Given the description of an element on the screen output the (x, y) to click on. 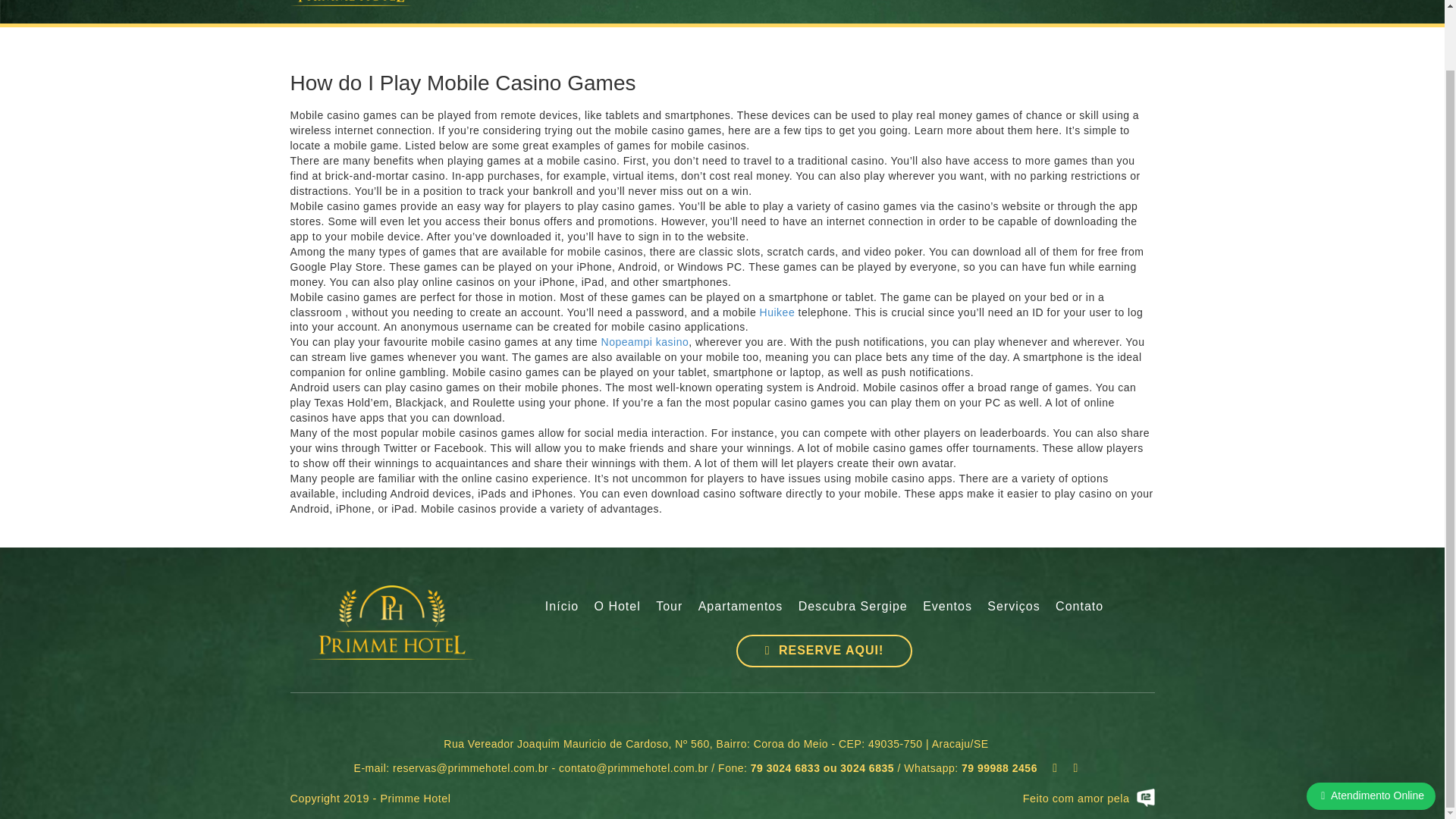
Primme Hotel (392, 622)
Reservas (824, 650)
Apartamentos (740, 606)
Descubra Sergipe (852, 606)
Contato (1079, 606)
Descubra Sergipe (852, 606)
Eventos (947, 606)
Apartamentos (740, 606)
O Hotel (617, 606)
Eventos (947, 606)
Huikee (777, 311)
Contato (1079, 606)
O Hotel (617, 606)
Nopeampi kasino (644, 341)
Tour Virtual (669, 606)
